Given the description of an element on the screen output the (x, y) to click on. 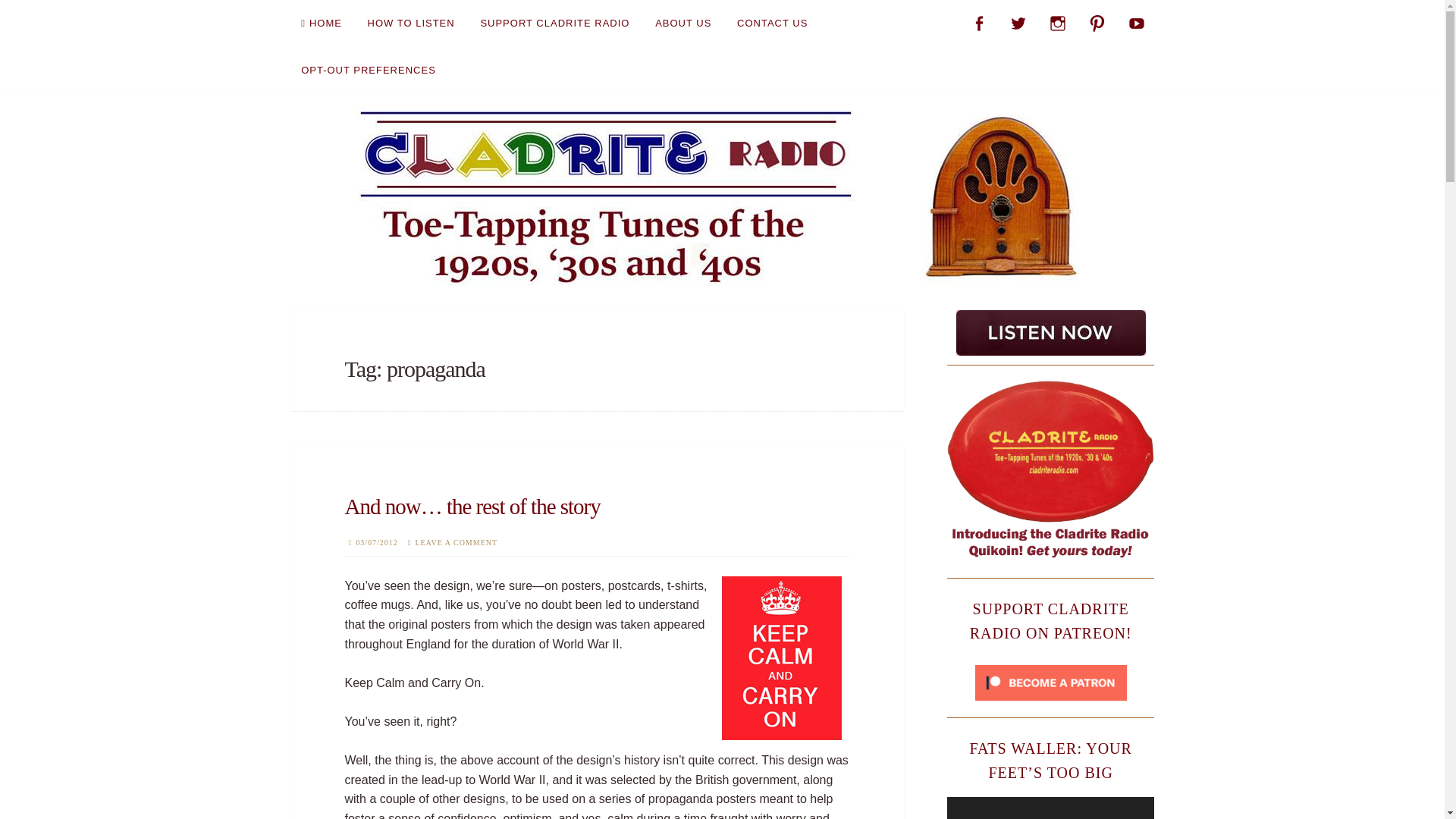
CONTACT US (771, 23)
ABOUT US (683, 23)
LEAVE A COMMENT (455, 542)
OPT-OUT PREFERENCES (367, 70)
HOME (320, 23)
HOW TO LISTEN (410, 23)
SUPPORT CLADRITE RADIO (554, 23)
Search (41, 15)
